Given the description of an element on the screen output the (x, y) to click on. 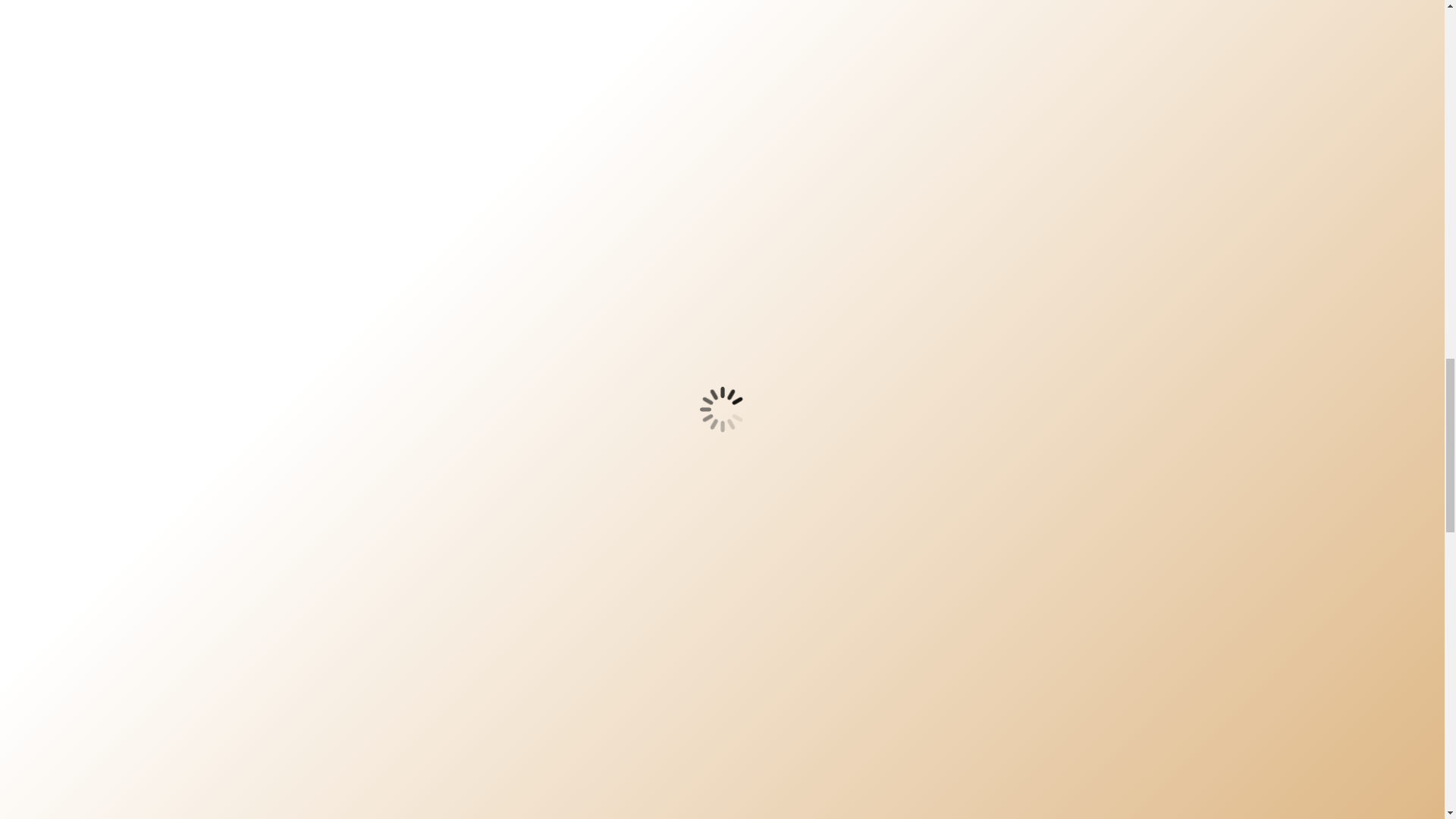
8:04 am (677, 734)
View all posts by Josh Heston (600, 734)
